Given the description of an element on the screen output the (x, y) to click on. 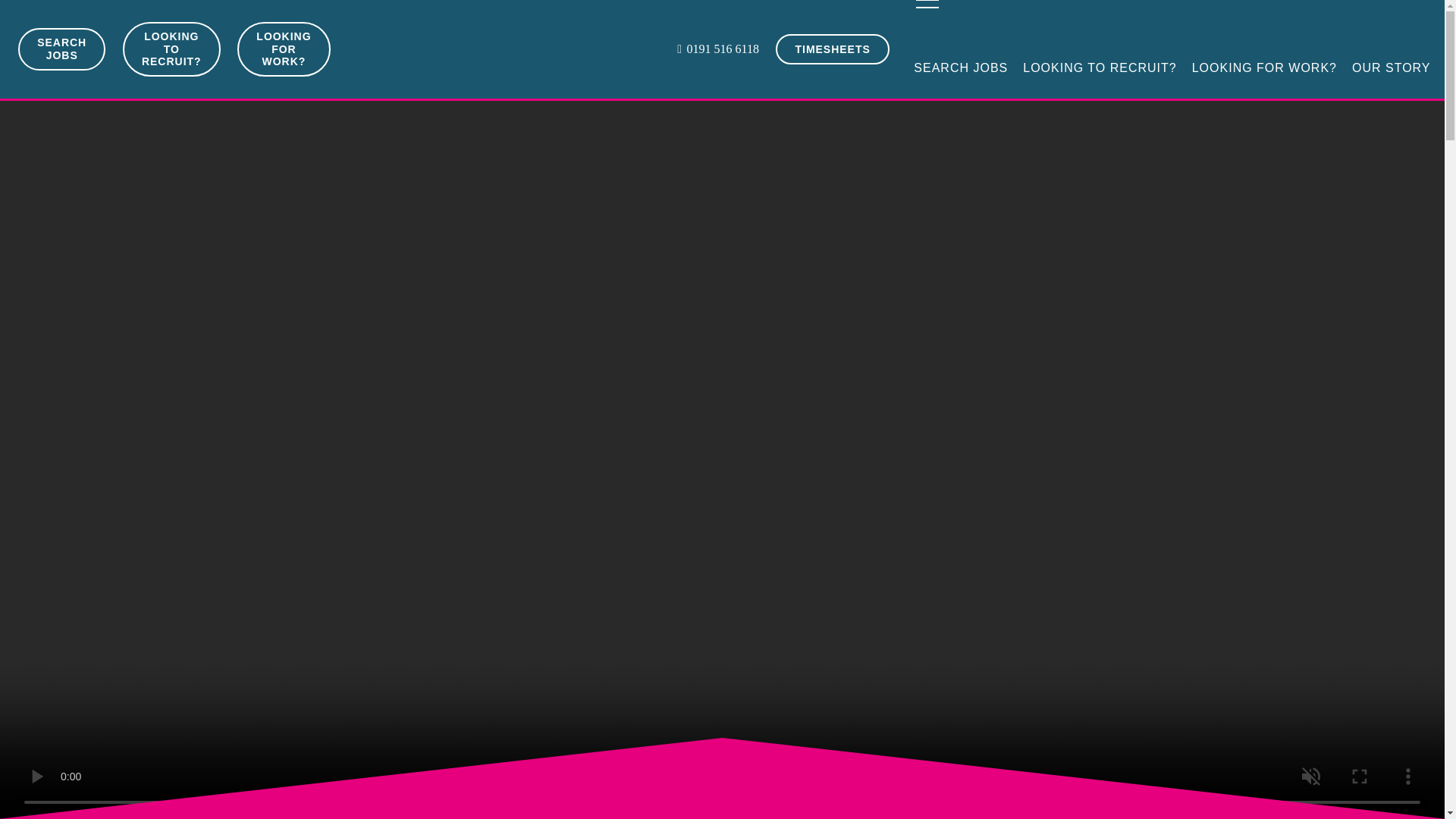
0191 516 6118 (717, 48)
SEARCH JOBS (60, 48)
OUR STORY (1390, 67)
LOOKING TO RECRUIT? (1098, 67)
TIMESHEETS (832, 48)
LOOKING TO RECRUIT? (171, 49)
LOOKING FOR WORK? (1264, 67)
LOOKING FOR WORK? (283, 49)
SEARCH JOBS (959, 67)
